Given the description of an element on the screen output the (x, y) to click on. 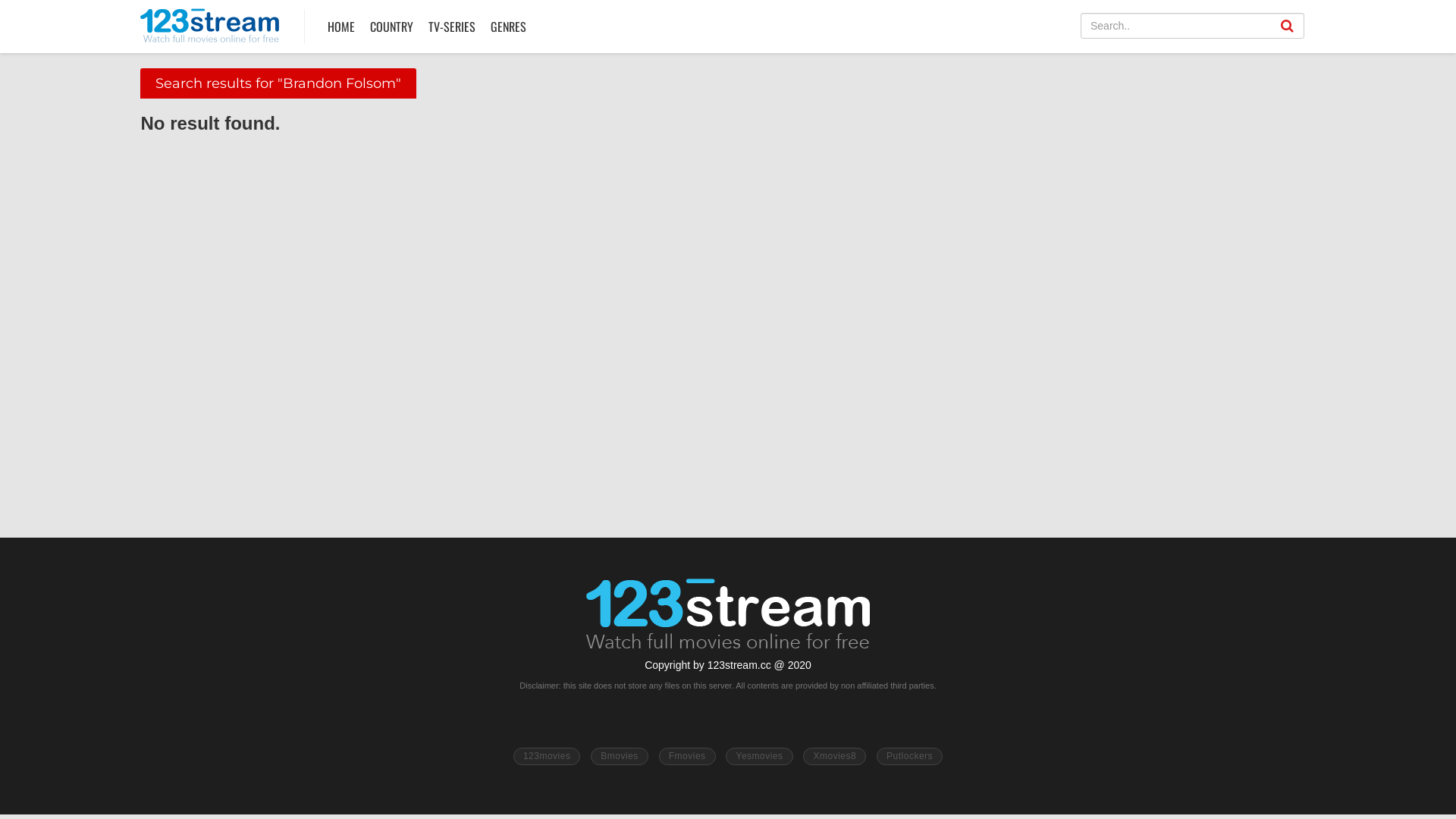
GENRES Element type: text (508, 26)
Yesmovies Element type: text (758, 756)
123movies Element type: text (546, 756)
Bmovies Element type: text (619, 756)
Xmovies8 Element type: text (834, 756)
Fmovies Element type: text (686, 756)
COUNTRY Element type: text (391, 26)
Putlockers Element type: text (909, 756)
TV-SERIES Element type: text (451, 26)
HOME Element type: text (340, 26)
